Given the description of an element on the screen output the (x, y) to click on. 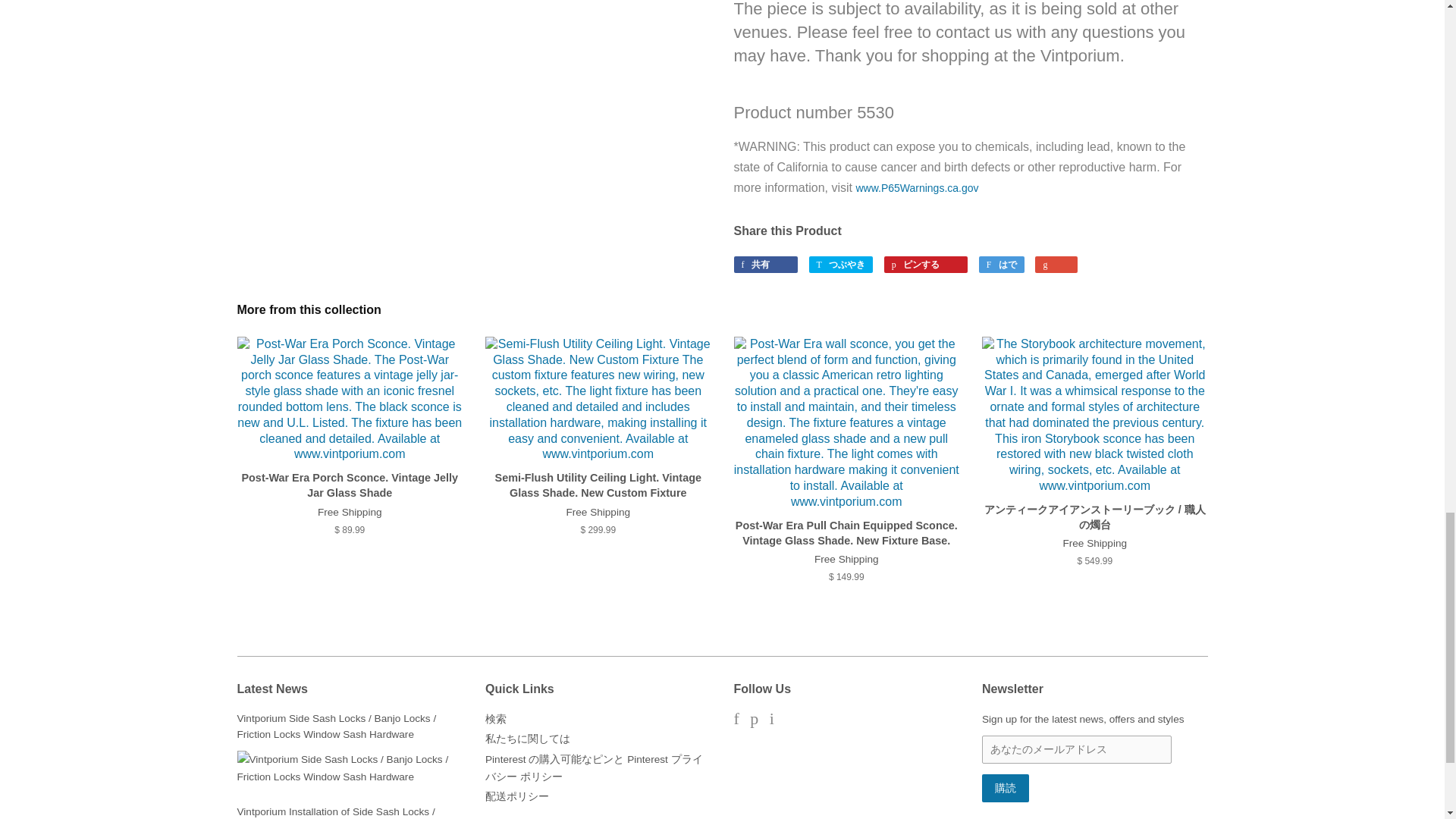
Latest News (271, 688)
www.P65Warnings.ca.gov (917, 187)
www.P65Warnings.ca.gov (917, 187)
